Given the description of an element on the screen output the (x, y) to click on. 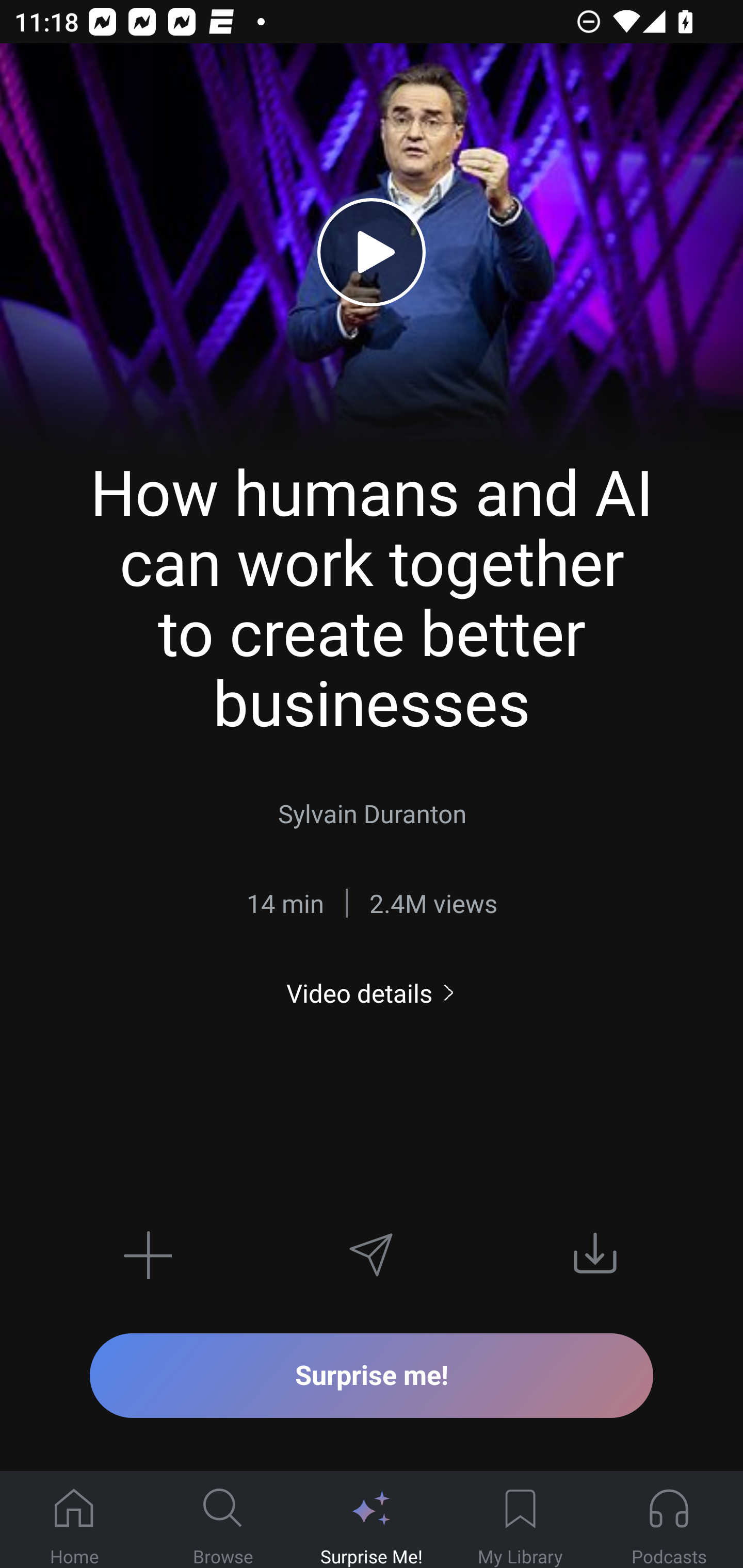
Video details (371, 993)
Surprise me! (371, 1374)
Home (74, 1520)
Browse (222, 1520)
Surprise Me! (371, 1520)
My Library (519, 1520)
Podcasts (668, 1520)
